Given the description of an element on the screen output the (x, y) to click on. 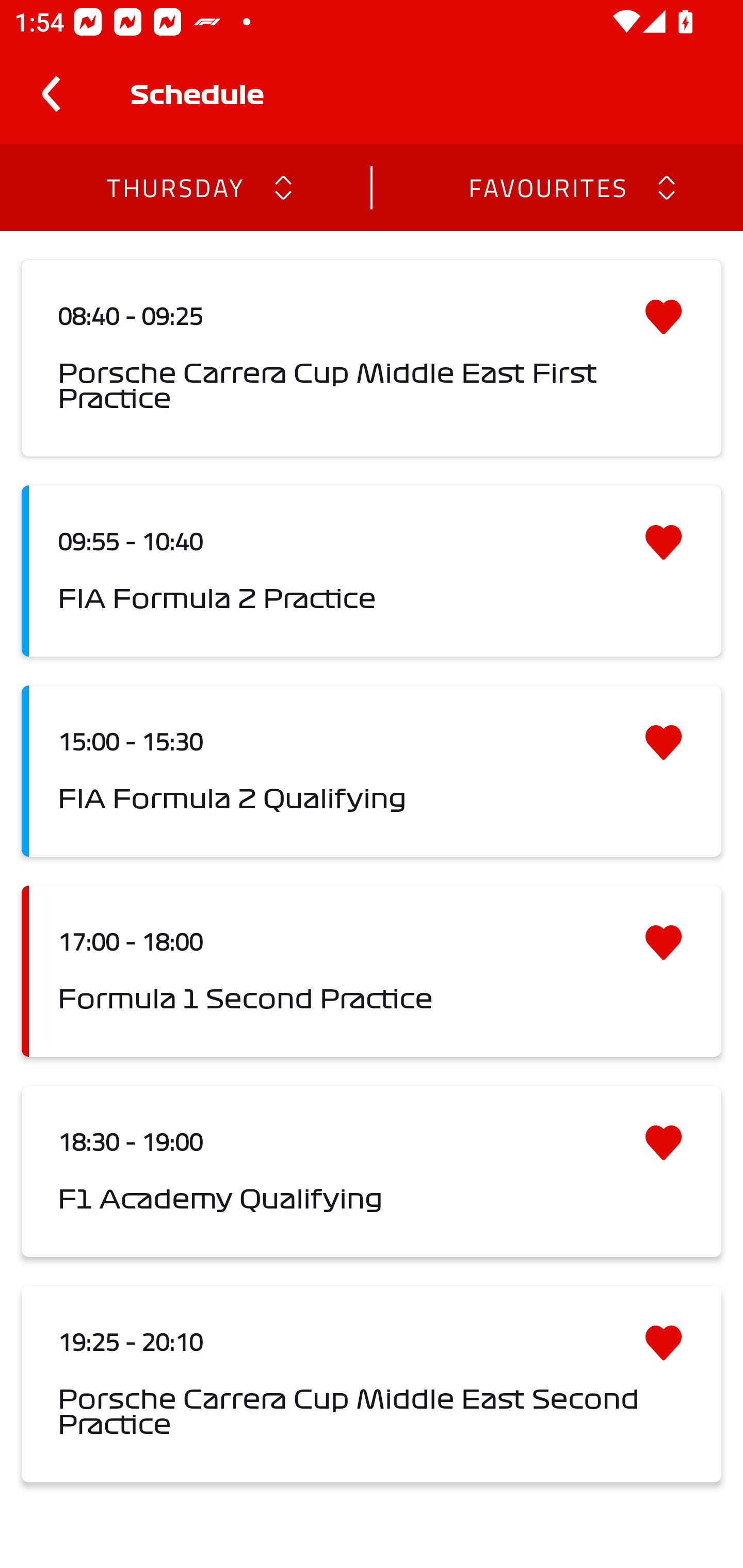
Navigate up (50, 93)
THURSDAY (174, 187)
FAVOURITES (547, 187)
09:55 - 10:40 FIA Formula 2 Practice (371, 571)
15:00 - 15:30 FIA Formula 2 Qualifying (371, 770)
17:00 - 18:00 Formula 1 Second Practice (371, 970)
18:30 - 19:00 F1 Academy Qualifying (371, 1171)
